Given the description of an element on the screen output the (x, y) to click on. 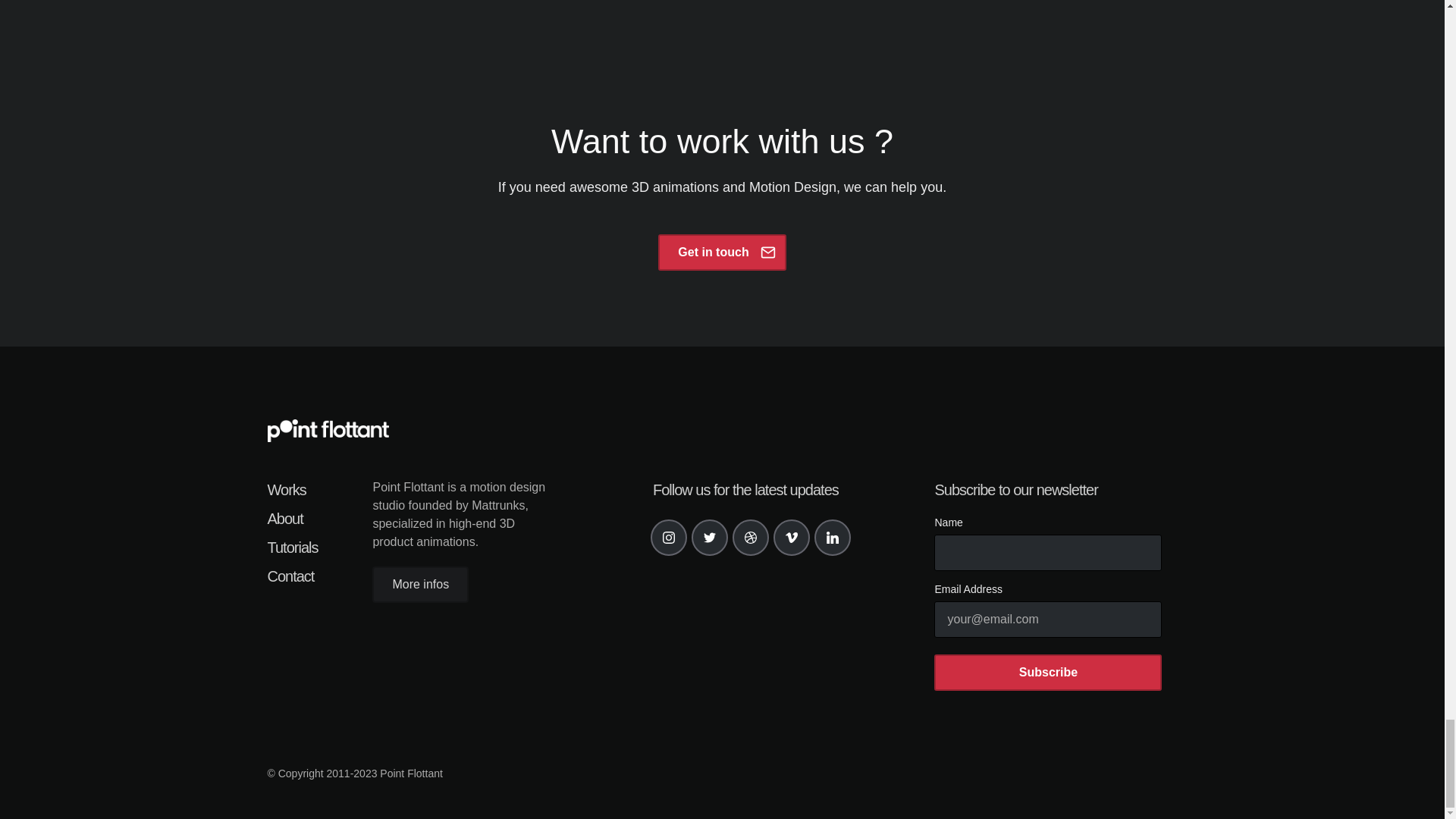
Subscribe (1047, 672)
Get in touch (722, 252)
Works (291, 489)
